Given the description of an element on the screen output the (x, y) to click on. 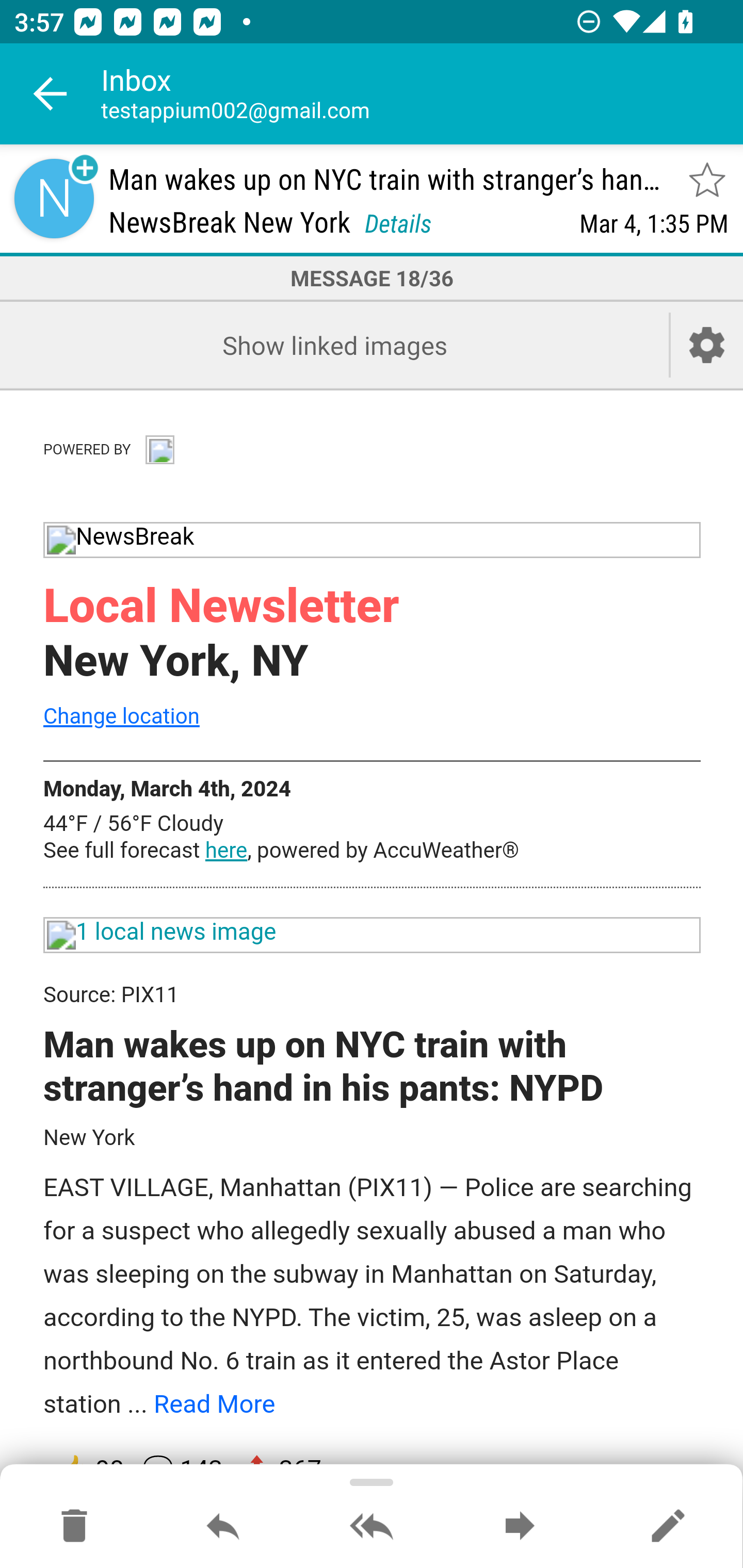
Navigate up (50, 93)
Inbox testappium002@gmail.com (422, 93)
Sender contact button (53, 198)
Show linked images (334, 344)
Account setup (706, 344)
info (159, 447)
Change location (121, 715)
here (225, 850)
1 local news image (372, 935)
Move to Deleted (74, 1527)
Reply (222, 1527)
Reply all (371, 1527)
Forward (519, 1527)
Reply as new (667, 1527)
